Given the description of an element on the screen output the (x, y) to click on. 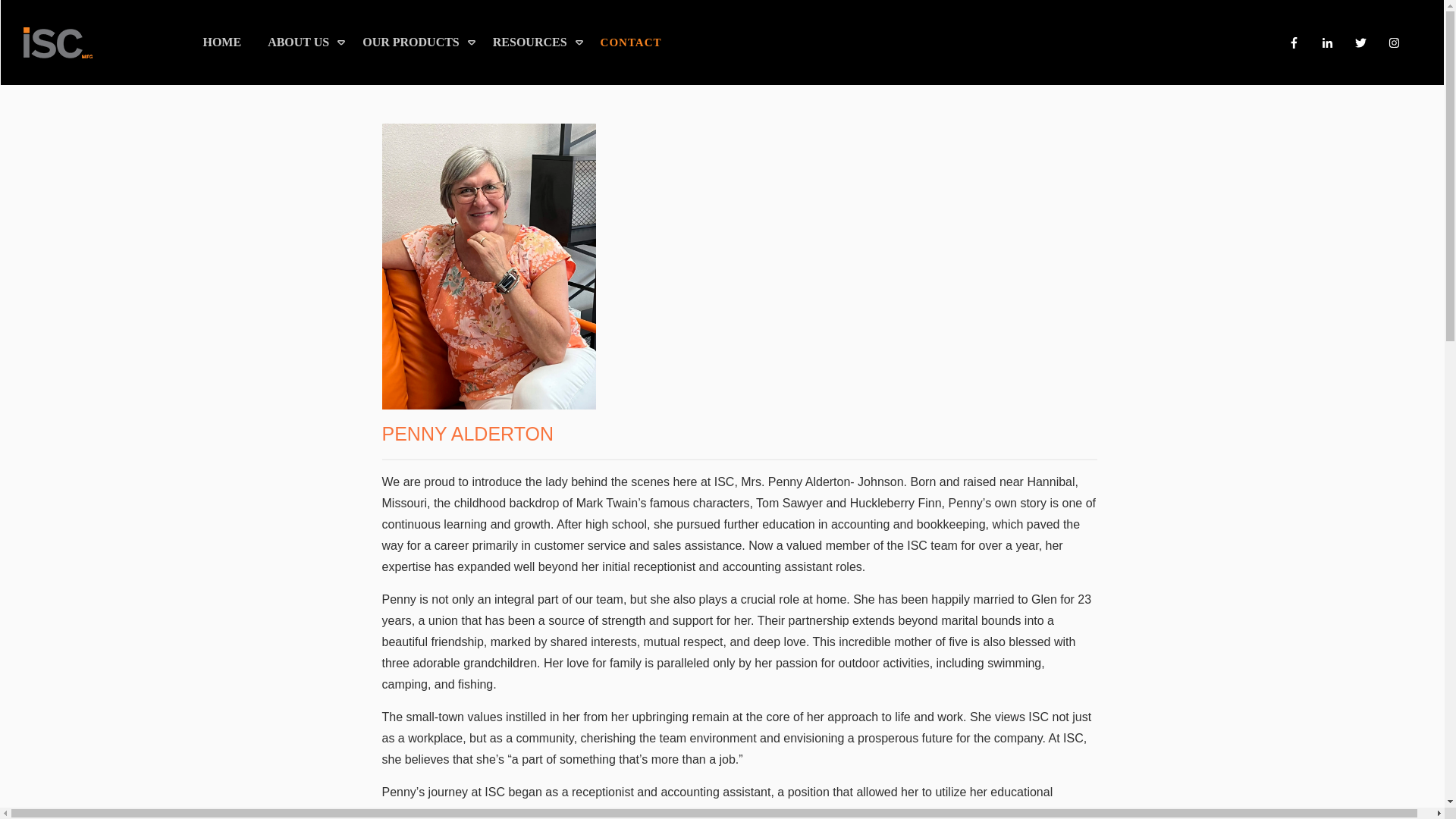
HOME (221, 42)
RESOURCES (539, 42)
OUR PRODUCTS (419, 42)
CONTACT (630, 42)
logo (57, 41)
ABOUT US (307, 42)
